Given the description of an element on the screen output the (x, y) to click on. 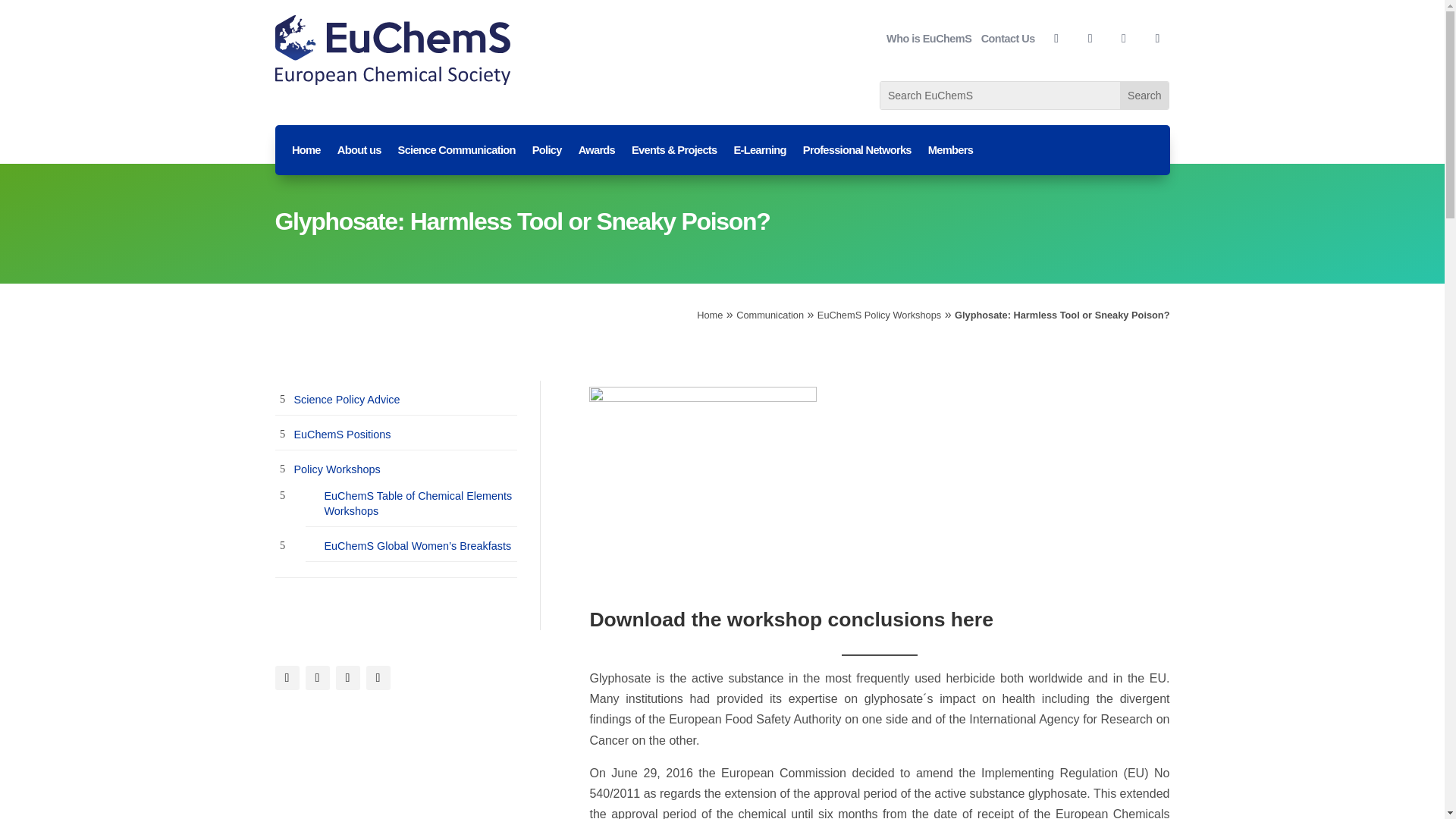
Search (1144, 94)
Who is EuChemS (928, 38)
Follow on X (316, 677)
Follow on Facebook (286, 677)
Science Communication (456, 152)
Follow on LinkedIn (346, 677)
Awards (596, 152)
Follow on Facebook (1055, 38)
Follow on Youtube (377, 677)
Follow on Twitter (1090, 38)
